Given the description of an element on the screen output the (x, y) to click on. 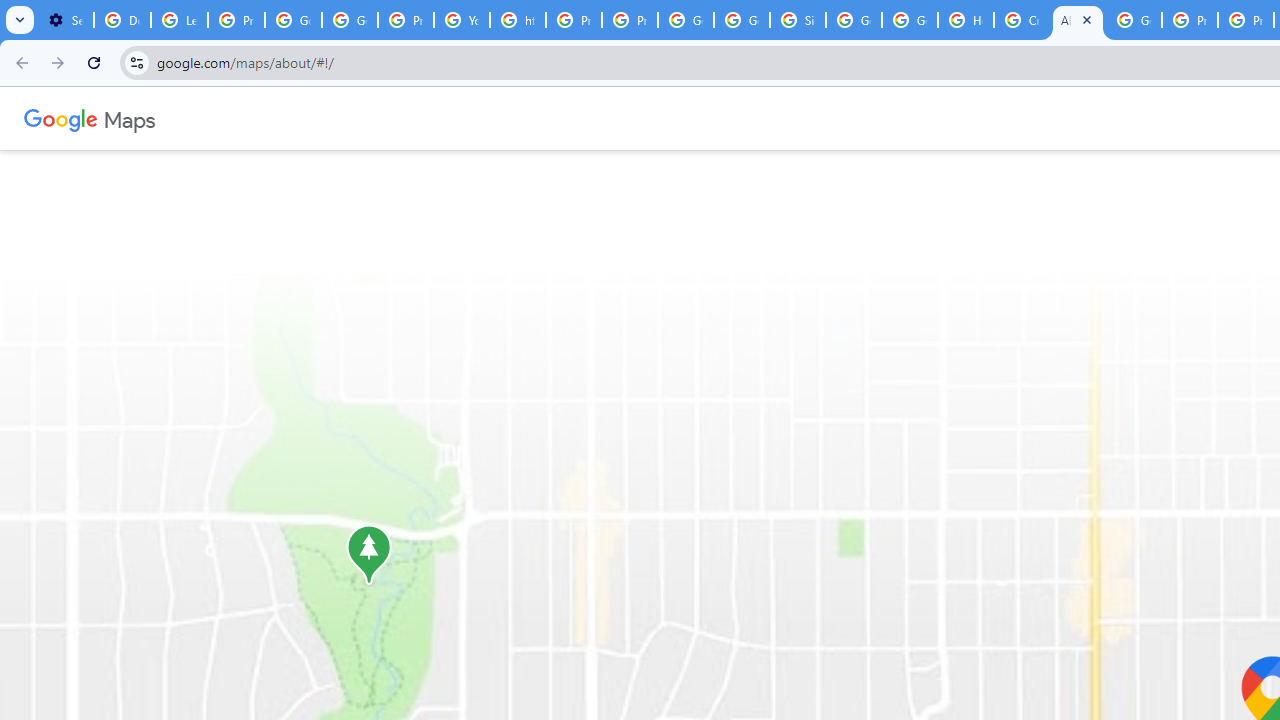
Maps (129, 118)
YouTube (461, 20)
Privacy Help Center - Policies Help (1190, 20)
Privacy Help Center - Policies Help (573, 20)
Sign in - Google Accounts (797, 20)
Google Account Help (293, 20)
Settings - Performance (65, 20)
